Given the description of an element on the screen output the (x, y) to click on. 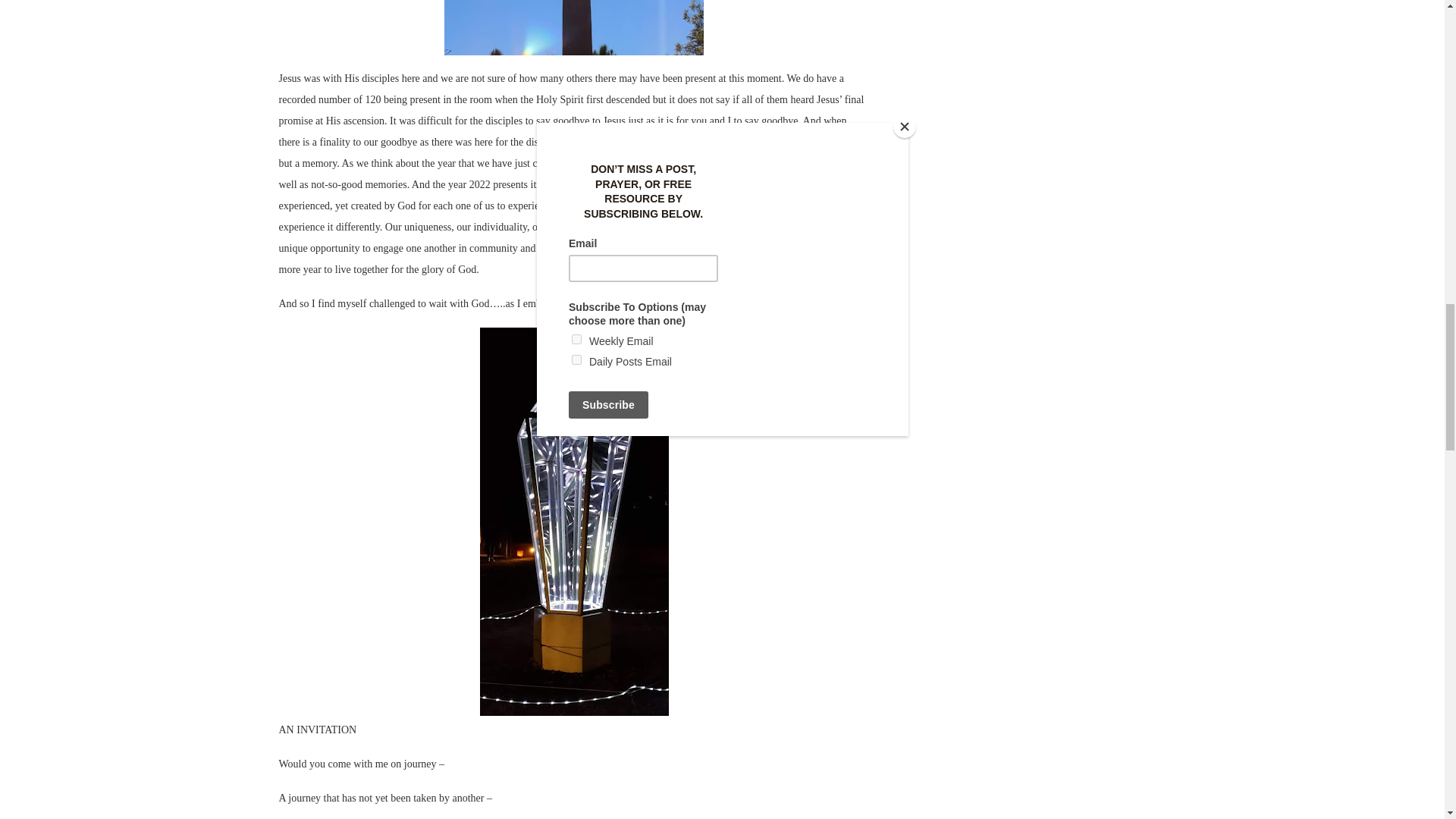
junef2 (573, 27)
